Given the description of an element on the screen output the (x, y) to click on. 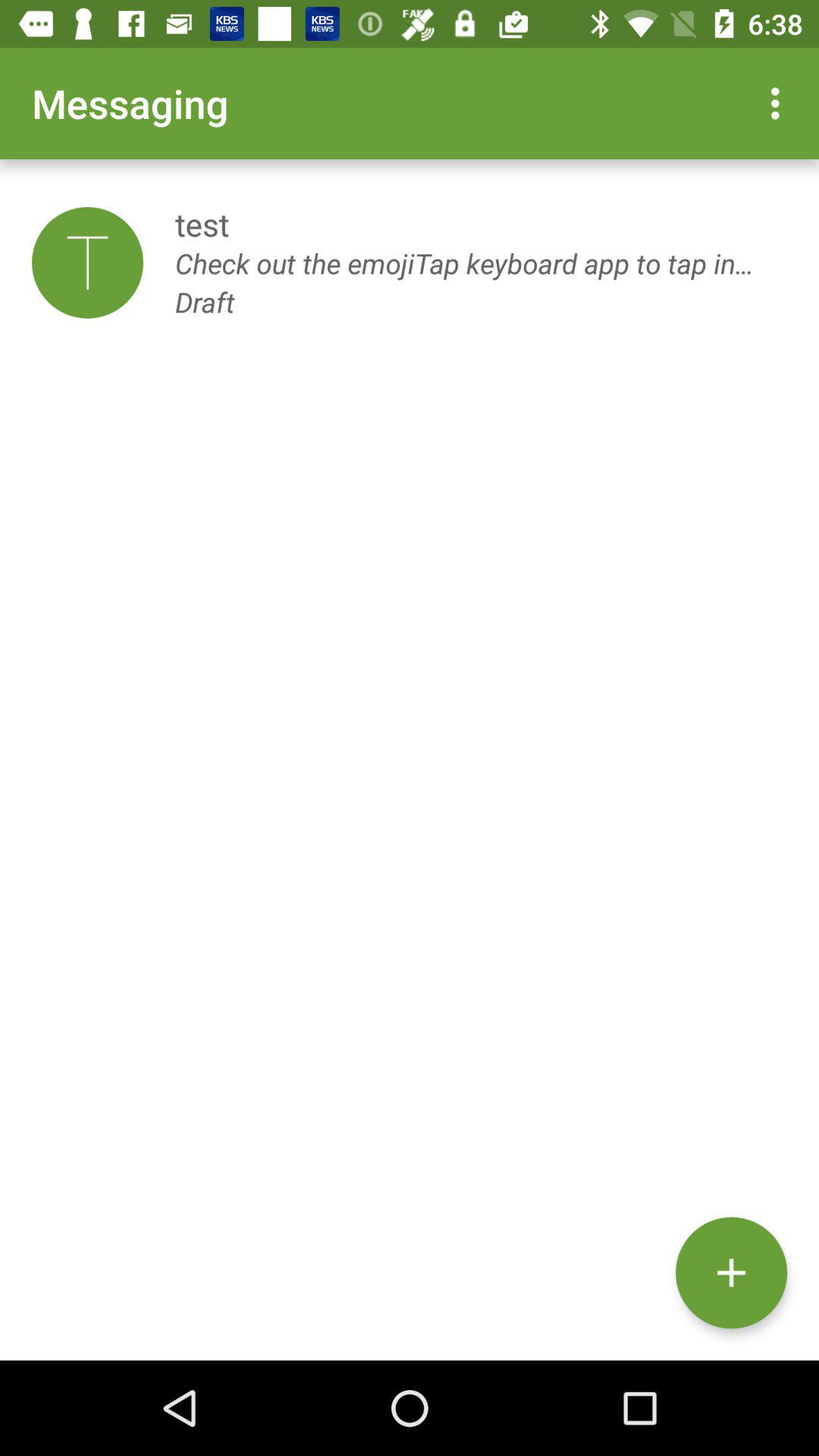
turn on item at the bottom right corner (731, 1272)
